Given the description of an element on the screen output the (x, y) to click on. 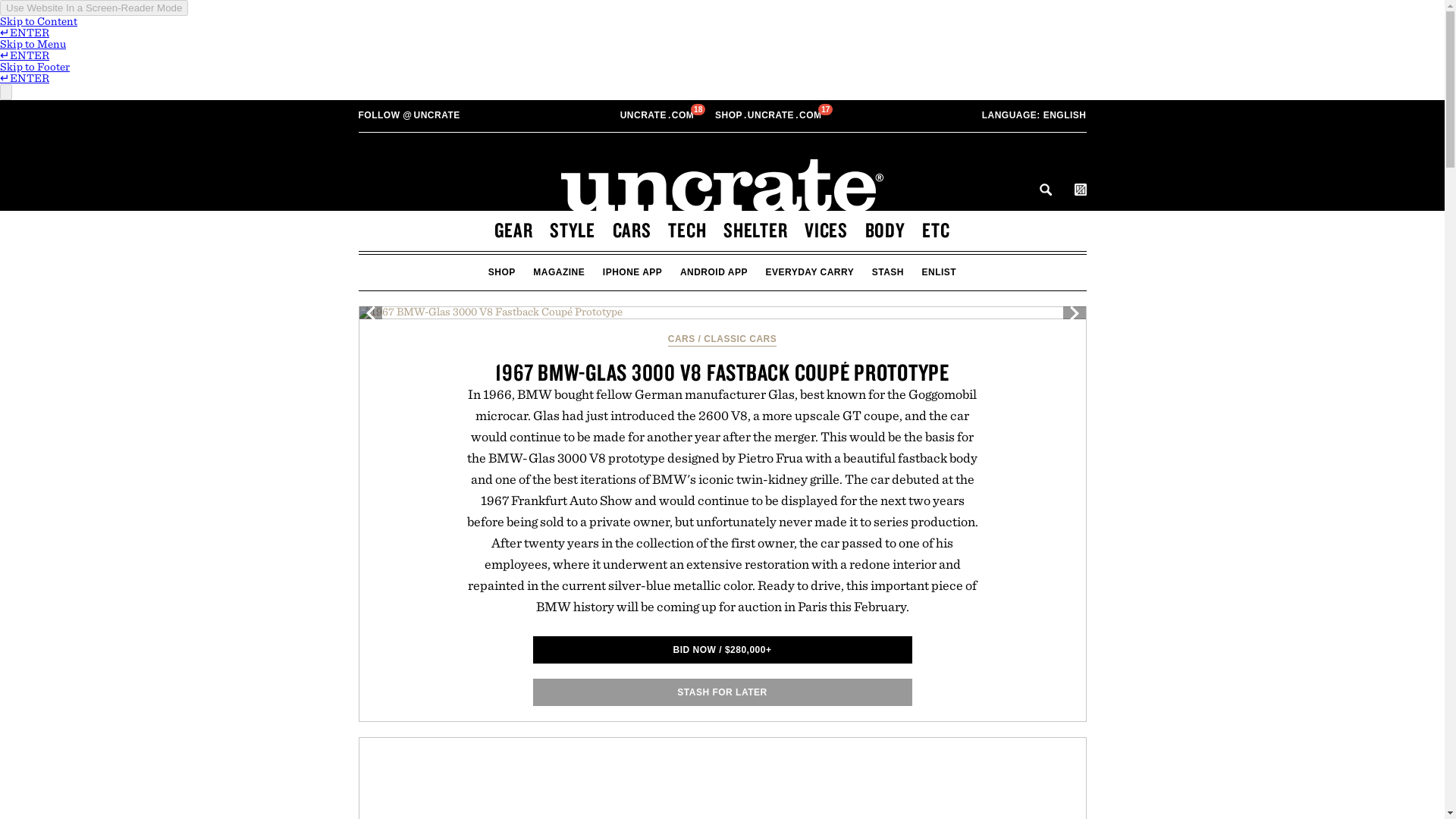
3rd party ad content (769, 114)
LANGUAGE: ENGLISH (725, 778)
